Given the description of an element on the screen output the (x, y) to click on. 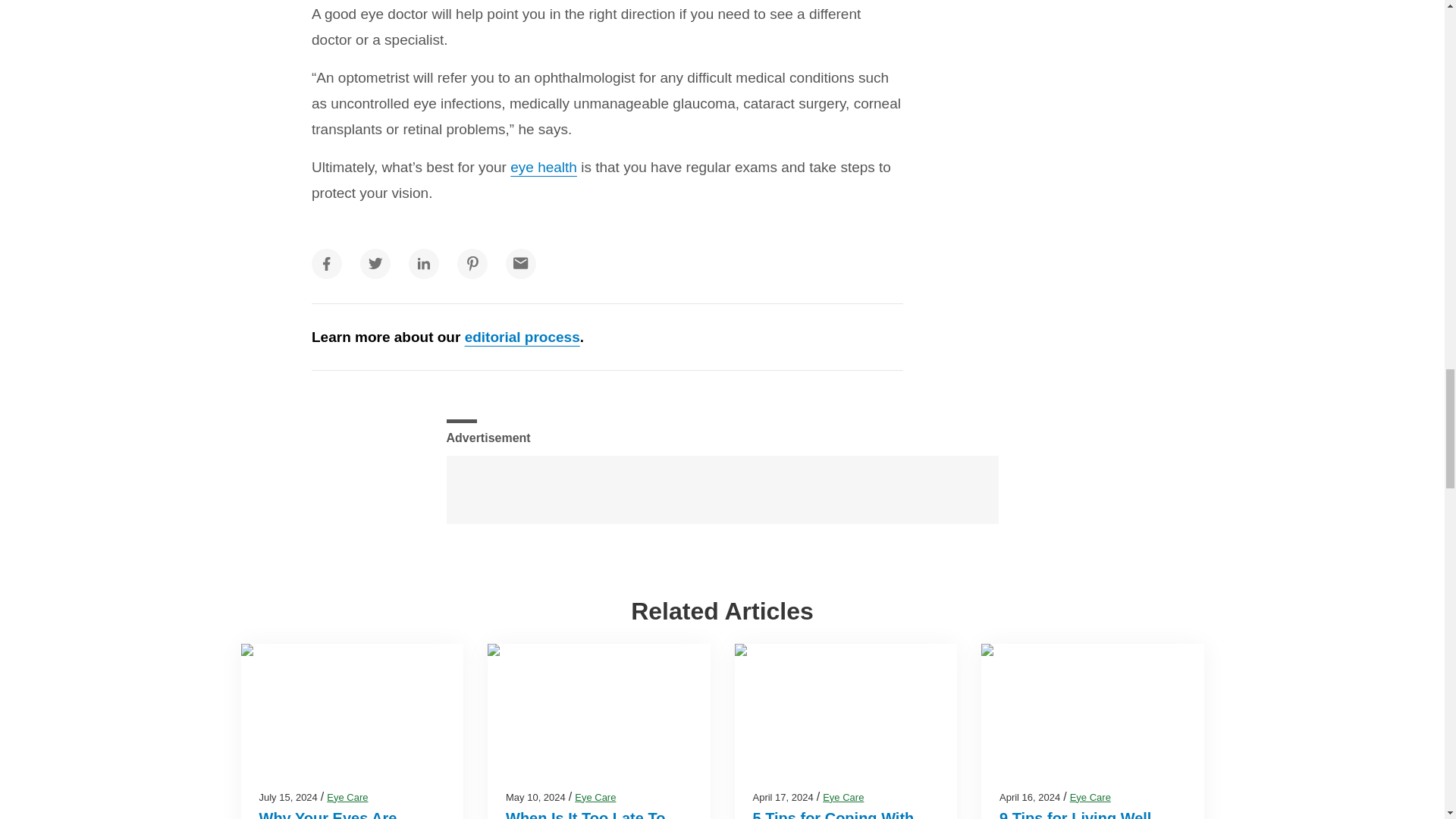
Eye Care (595, 797)
eye health (543, 166)
Eye Care (347, 797)
editorial process (521, 336)
